Given the description of an element on the screen output the (x, y) to click on. 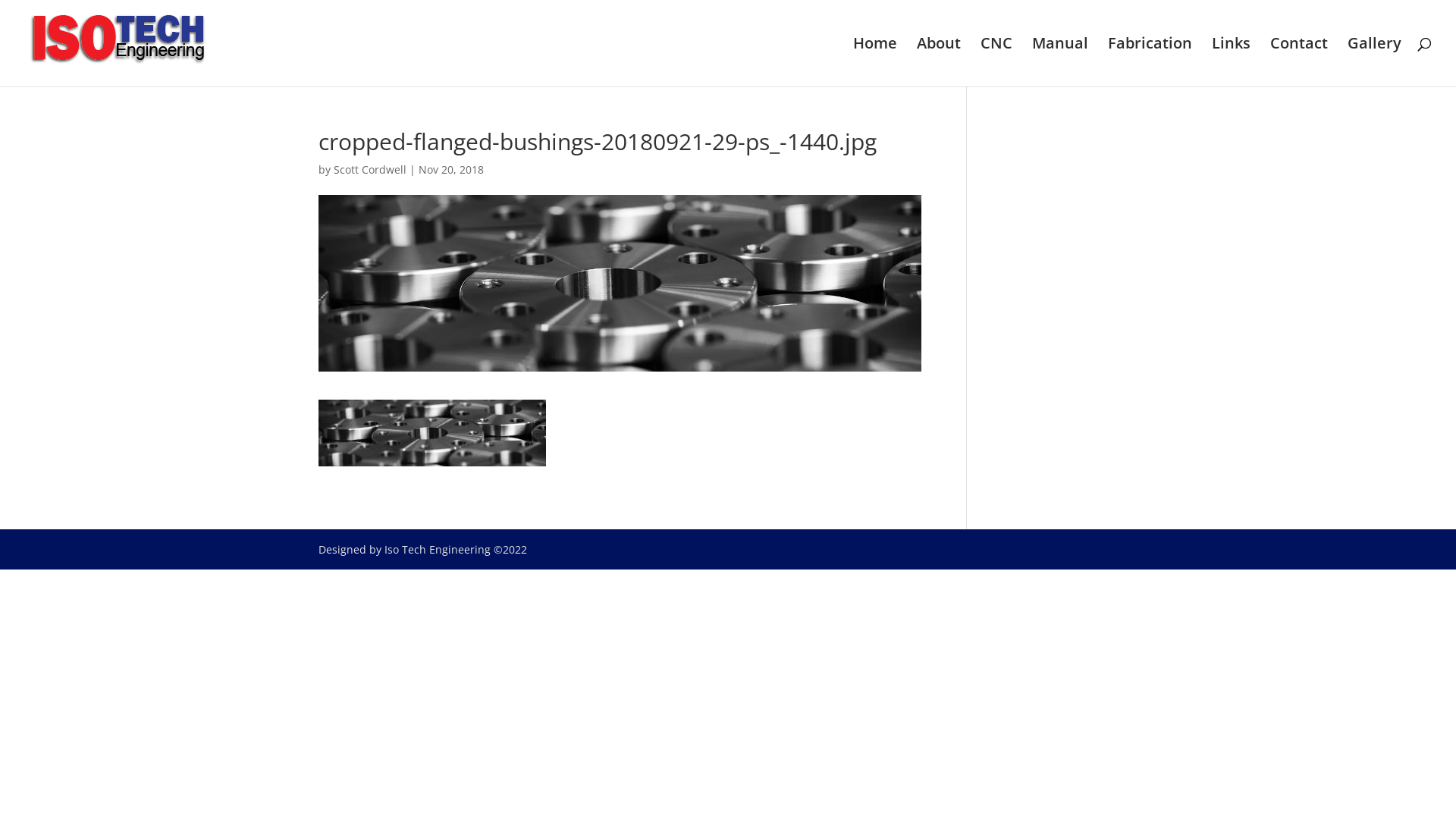
Manual Element type: text (1060, 61)
Fabrication Element type: text (1149, 61)
Links Element type: text (1230, 61)
Home Element type: text (875, 61)
Contact Element type: text (1298, 61)
Gallery Element type: text (1374, 61)
CNC Element type: text (996, 61)
Scott Cordwell Element type: text (369, 169)
About Element type: text (938, 61)
